Given the description of an element on the screen output the (x, y) to click on. 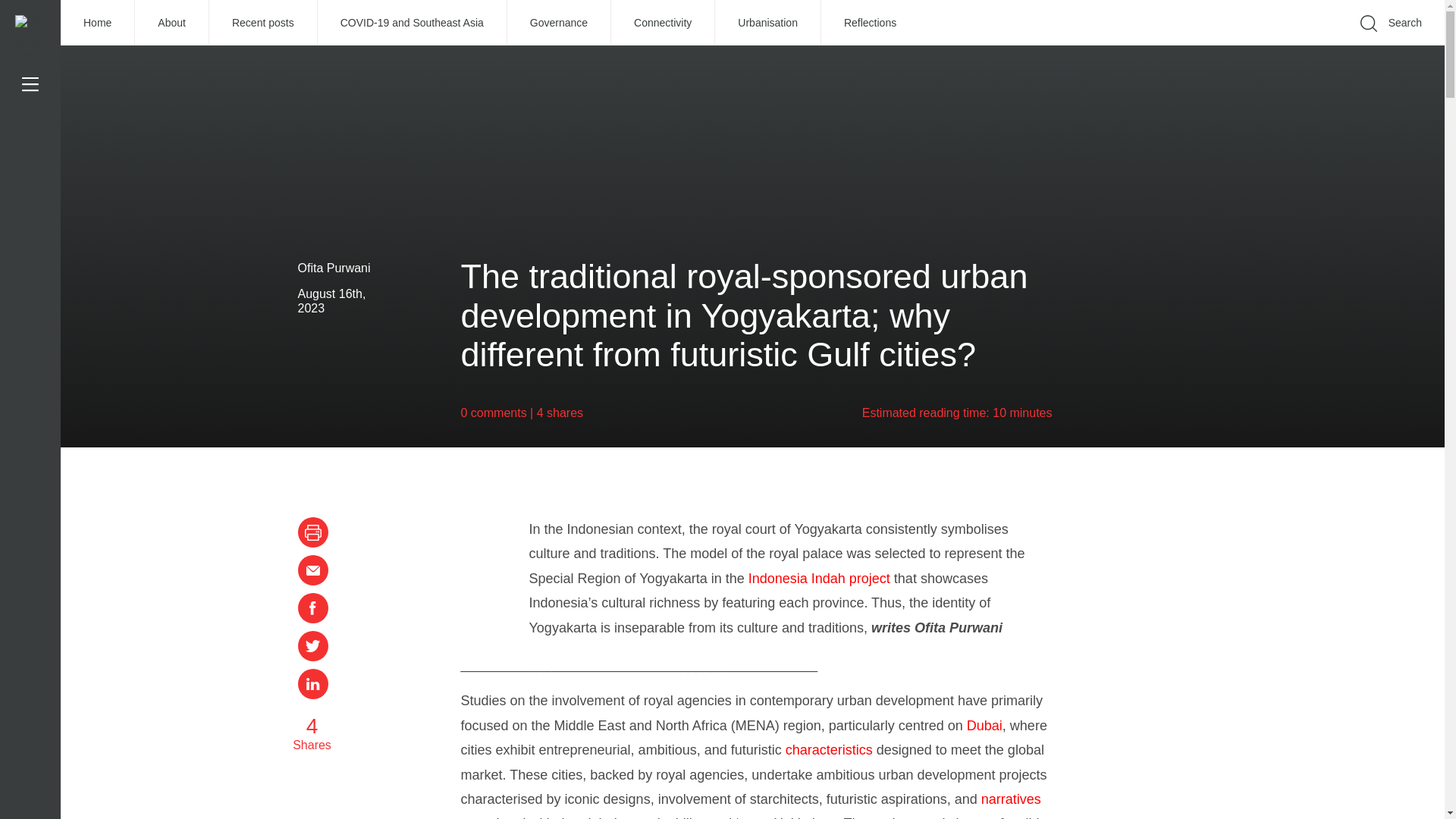
Dubai (984, 725)
characteristics (829, 749)
About (172, 22)
0 comments (494, 412)
Connectivity (662, 22)
Indonesia Indah project (818, 578)
Go (1190, 44)
Recent posts (263, 22)
narratives (1011, 798)
Reflections (869, 22)
